Given the description of an element on the screen output the (x, y) to click on. 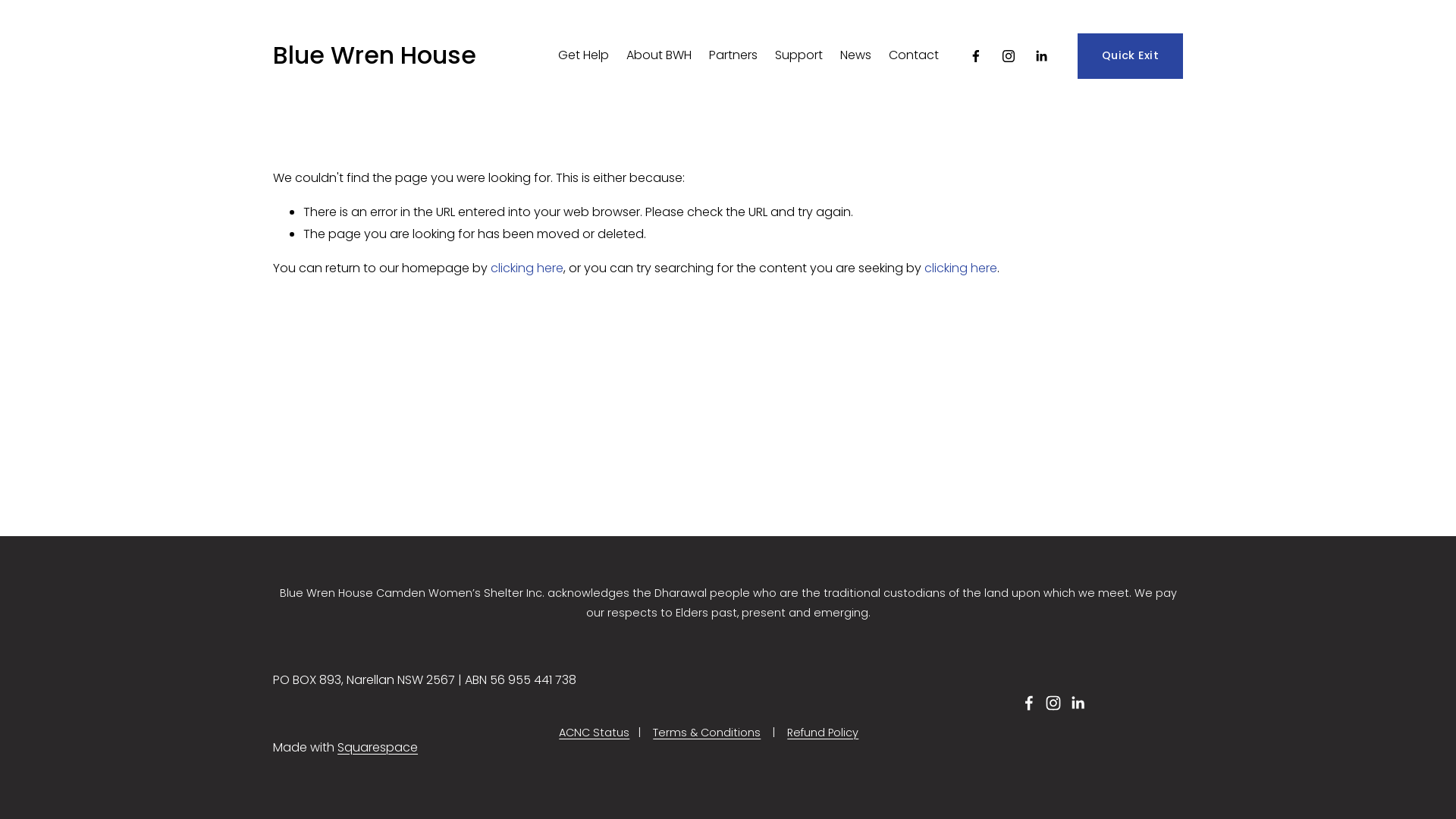
Refund Policy Element type: text (822, 733)
Support Element type: text (798, 55)
News Element type: text (855, 55)
Blue Wren House Element type: text (374, 54)
Terms & Conditions Element type: text (706, 733)
Squarespace Element type: text (377, 748)
Partners Element type: text (733, 55)
clicking here Element type: text (960, 267)
clicking here Element type: text (526, 267)
ACNC Status Element type: text (593, 733)
Contact Element type: text (913, 55)
About BWH Element type: text (658, 55)
Get Help Element type: text (583, 55)
Quick Exit Element type: text (1130, 55)
